Given the description of an element on the screen output the (x, y) to click on. 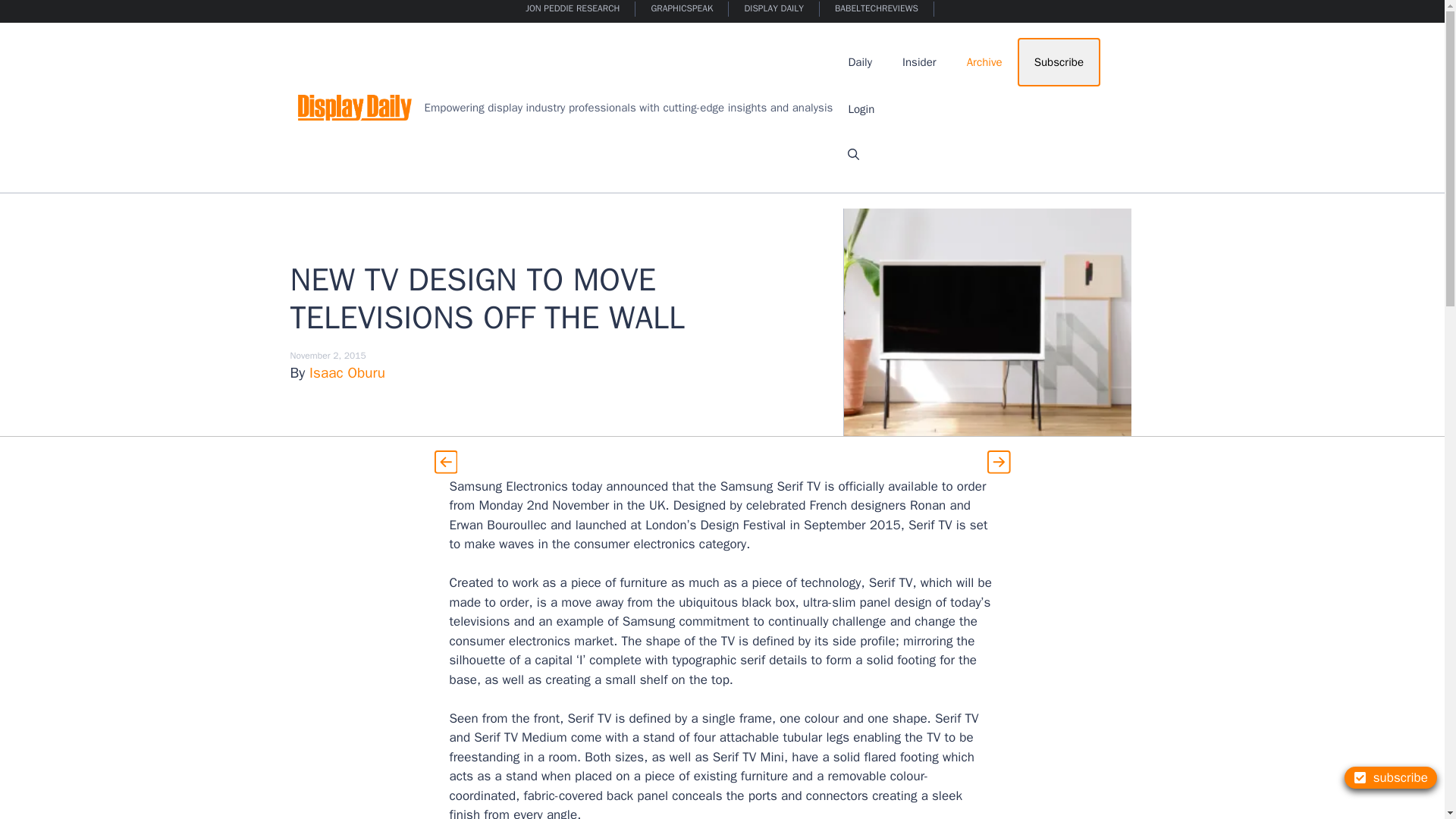
Archive (984, 62)
Insider (919, 62)
subscribe (1390, 776)
GRAPHICSPEAK (681, 8)
Login (860, 108)
subscribe (1390, 776)
Subscribe (1059, 62)
Daily (859, 62)
BABELTECHREVIEWS (876, 8)
JON PEDDIE RESEARCH (572, 8)
Isaac Oburu (346, 372)
DISPLAY DAILY (773, 8)
